Given the description of an element on the screen output the (x, y) to click on. 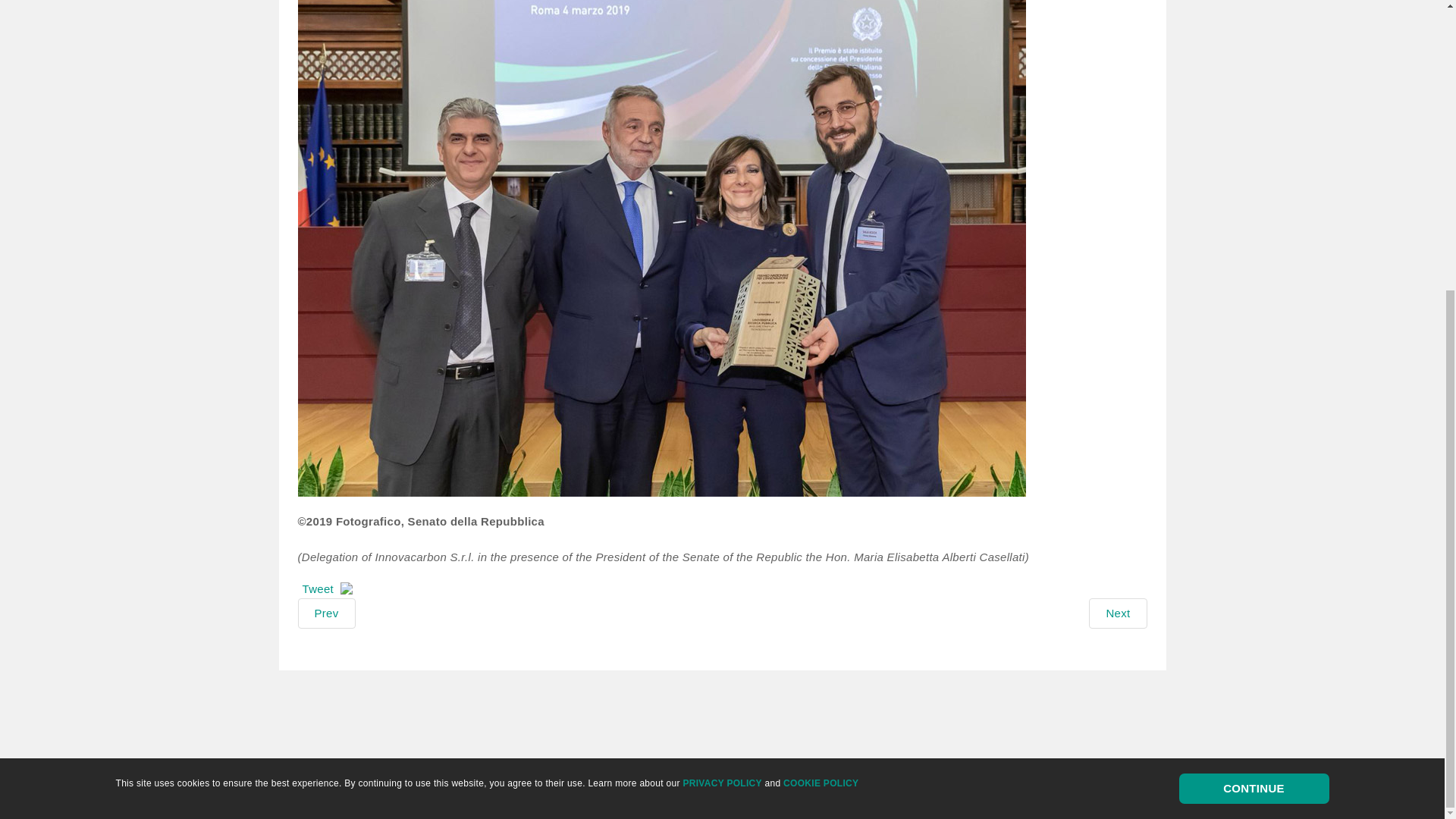
Next (1118, 613)
PRIVACY POLICY (721, 341)
Prev (326, 613)
CONTINUE (1252, 347)
COOKIE POLICY (821, 341)
Tweet (317, 588)
